Given the description of an element on the screen output the (x, y) to click on. 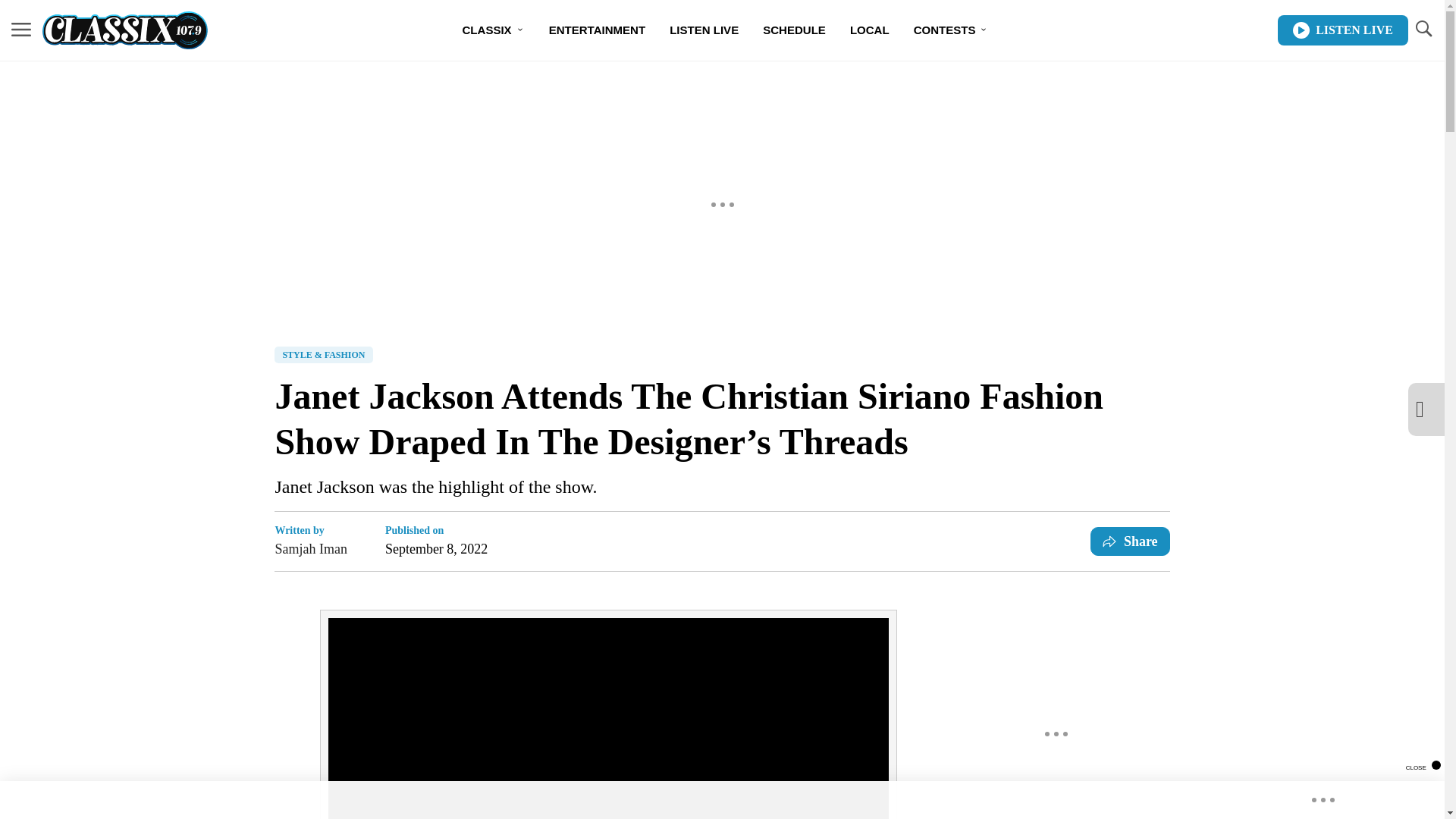
SCHEDULE (794, 30)
TOGGLE SEARCH (1422, 28)
CONTESTS (951, 30)
CLASSIX (493, 30)
Share (1130, 541)
LISTEN LIVE (704, 30)
ENTERTAINMENT (597, 30)
MENU (20, 30)
LOCAL (869, 30)
LISTEN LIVE (1342, 30)
